Given the description of an element on the screen output the (x, y) to click on. 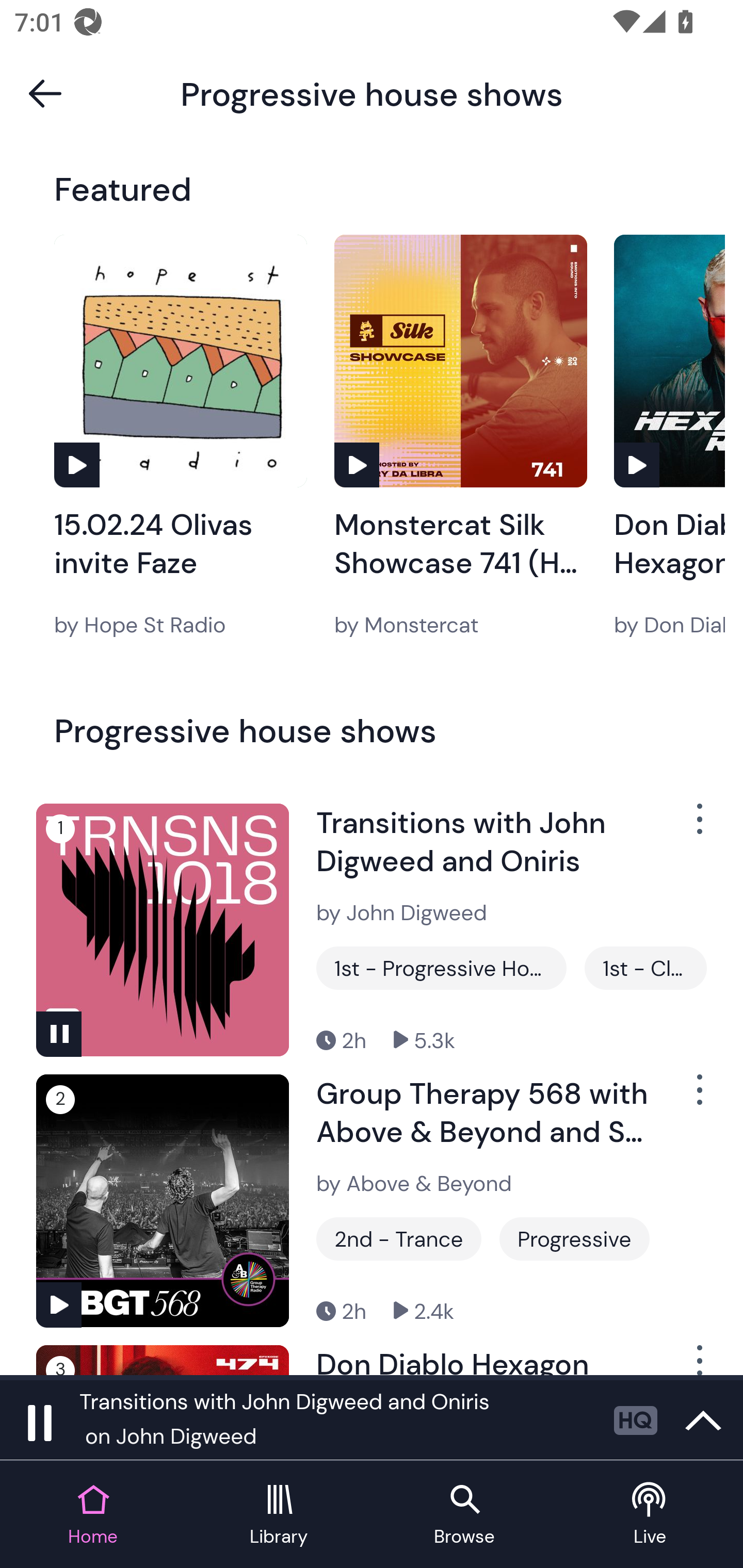
Show Options Menu Button (697, 825)
1st - Progressive House (441, 968)
1st - Club (645, 968)
Show Options Menu Button (697, 1097)
2nd - Trance (398, 1238)
Progressive (574, 1238)
Show Options Menu Button (697, 1360)
Home tab Home (92, 1515)
Library tab Library (278, 1515)
Browse tab Browse (464, 1515)
Live tab Live (650, 1515)
